Given the description of an element on the screen output the (x, y) to click on. 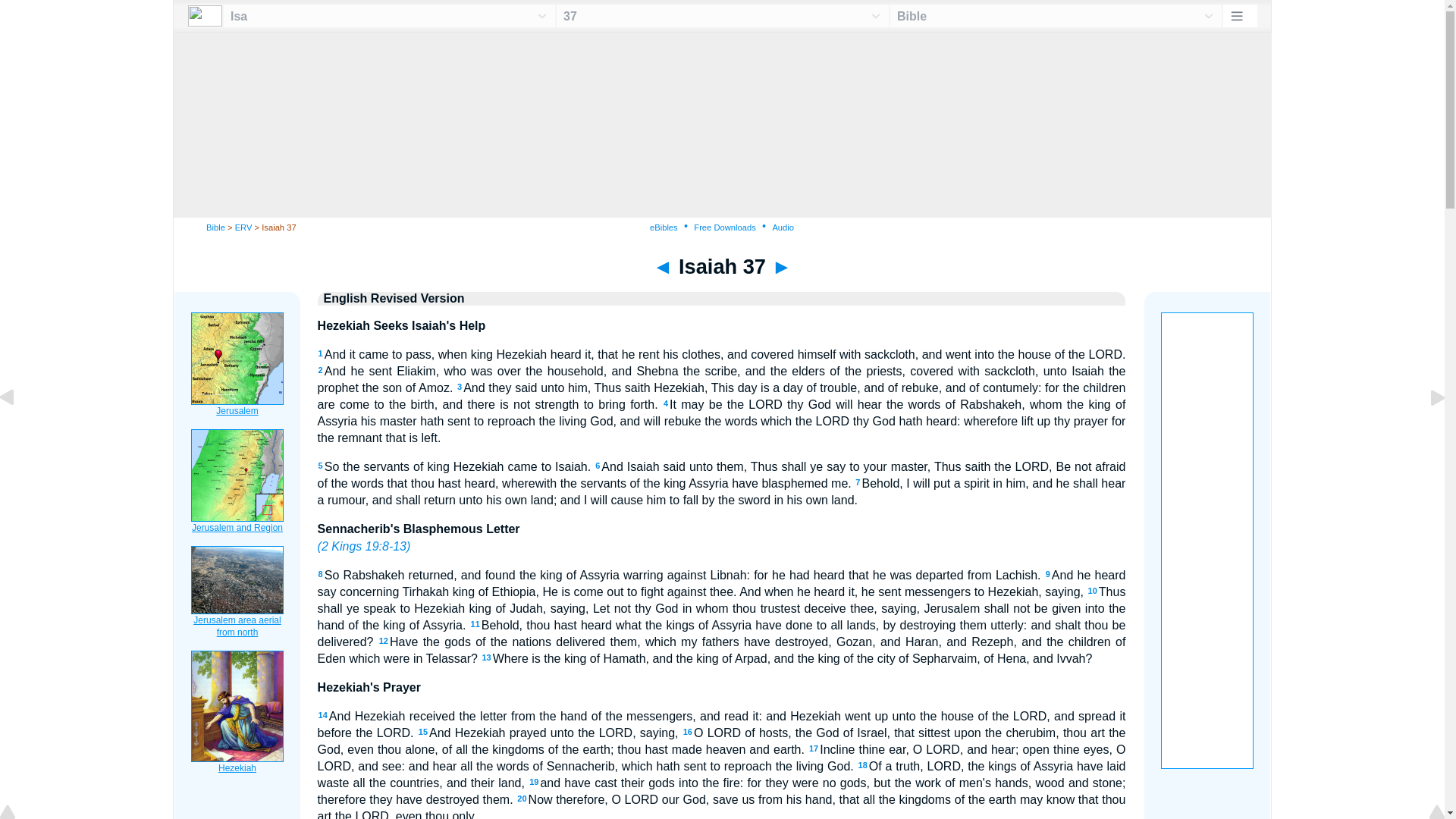
16 (687, 731)
12 (383, 640)
ERV (242, 226)
2 Kings 19:8-13 (363, 545)
Isaiah 36 (18, 431)
14 (322, 714)
10 (1092, 590)
15 (423, 731)
13 (485, 656)
Bible (215, 226)
11 (475, 623)
19 (533, 781)
20 (520, 798)
17 (813, 747)
Top of Page (18, 813)
